Given the description of an element on the screen output the (x, y) to click on. 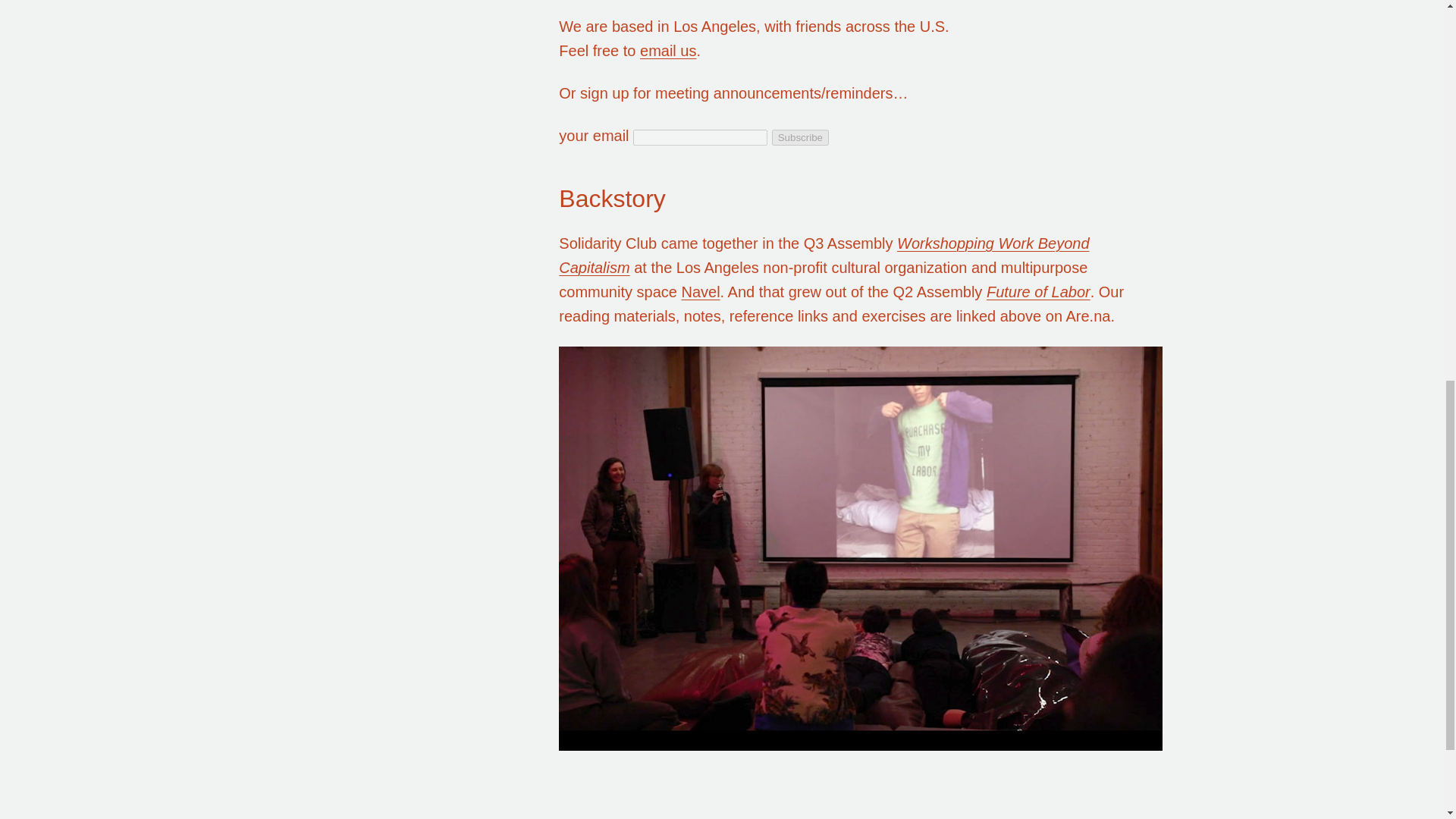
Subscribe (799, 136)
Workshopping Work Beyond Capitalism (824, 255)
Future of Labor (1038, 291)
Navel (700, 291)
email us (667, 50)
Subscribe (799, 136)
